Given the description of an element on the screen output the (x, y) to click on. 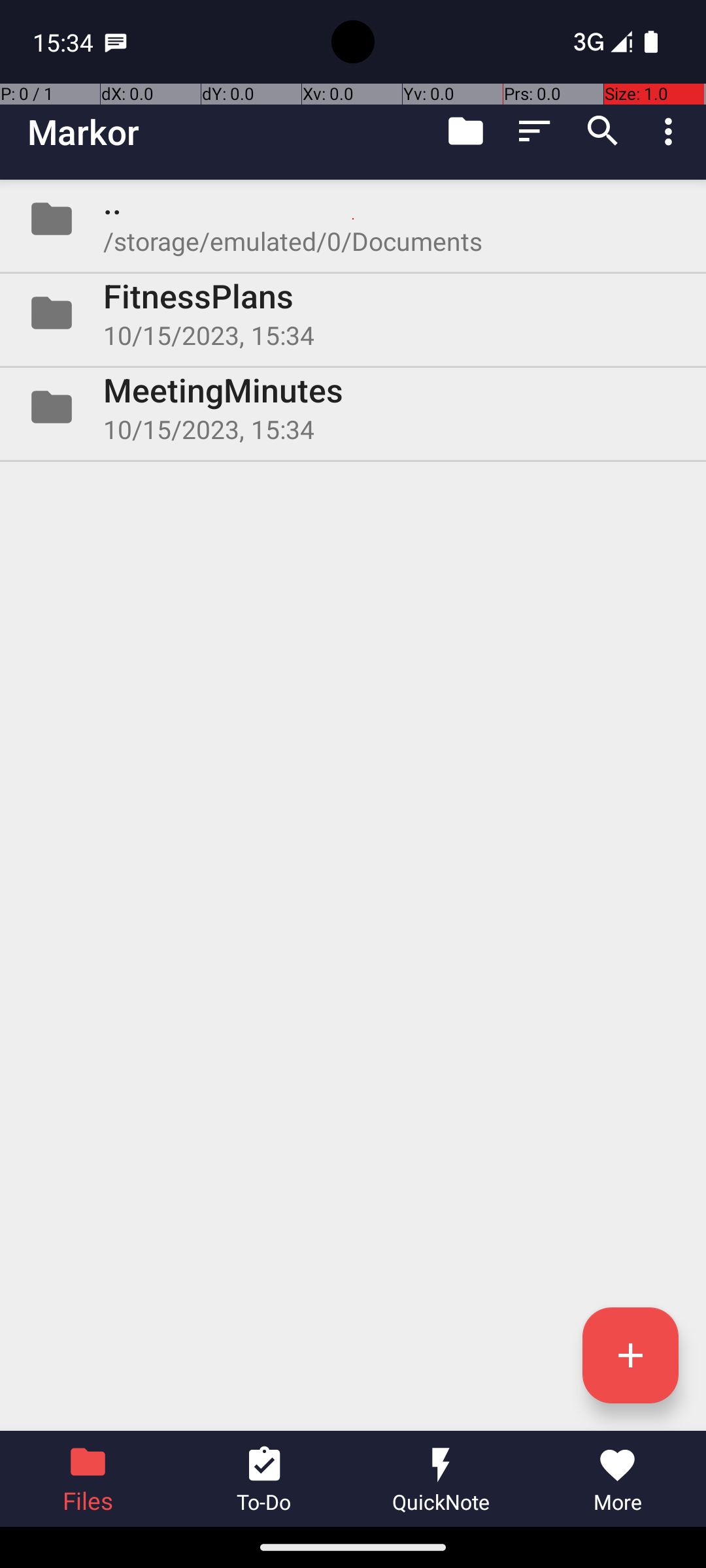
Folder FitnessPlans  Element type: android.widget.LinearLayout (353, 312)
Folder MeetingMinutes  Element type: android.widget.LinearLayout (353, 406)
